Given the description of an element on the screen output the (x, y) to click on. 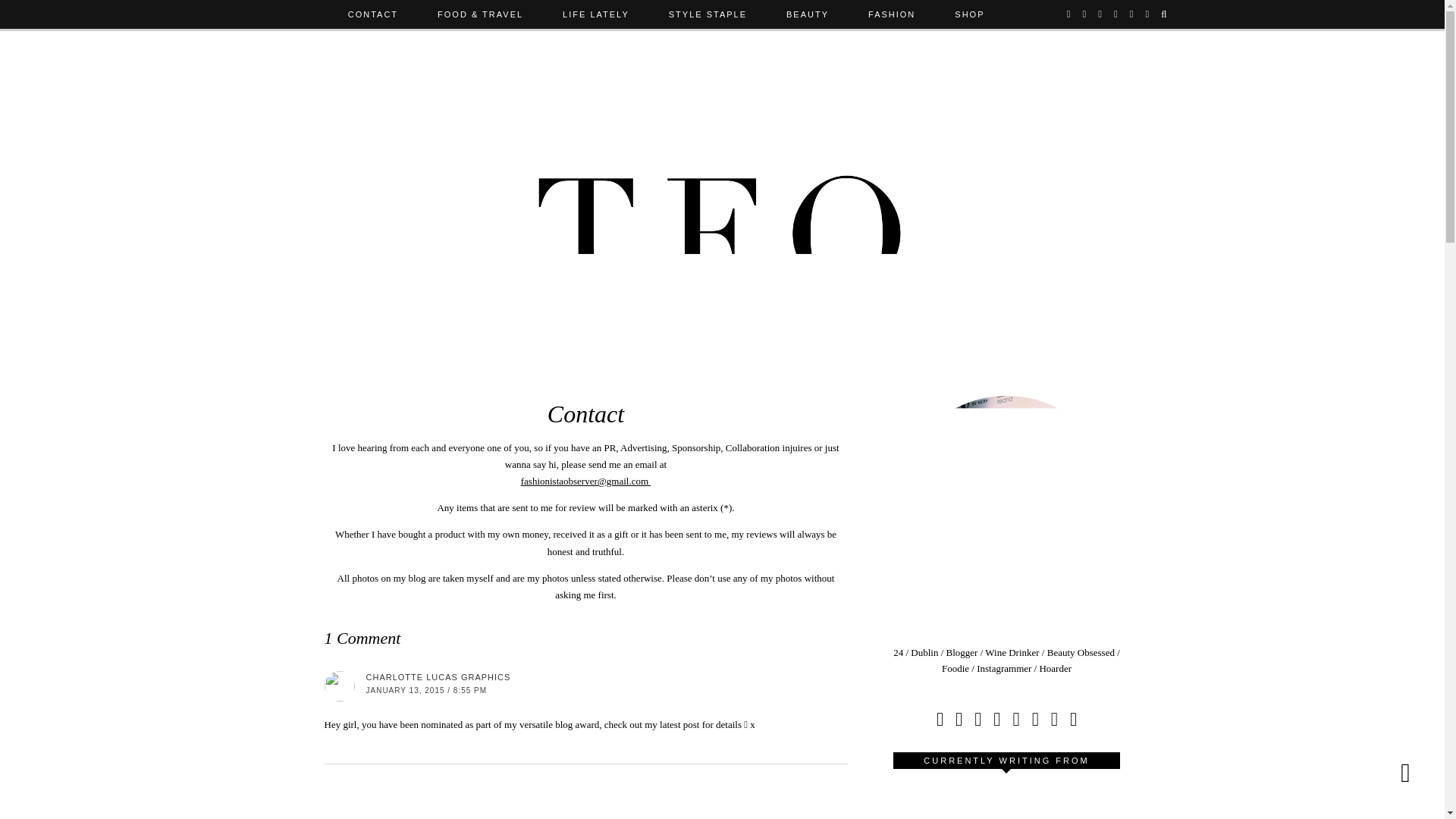
STYLE STAPLE (708, 14)
CONTACT (373, 14)
FASHION (891, 14)
CHARLOTTE LUCAS GRAPHICS (438, 676)
LIFE LATELY (596, 14)
BEAUTY (807, 14)
SHOP (969, 14)
